Given the description of an element on the screen output the (x, y) to click on. 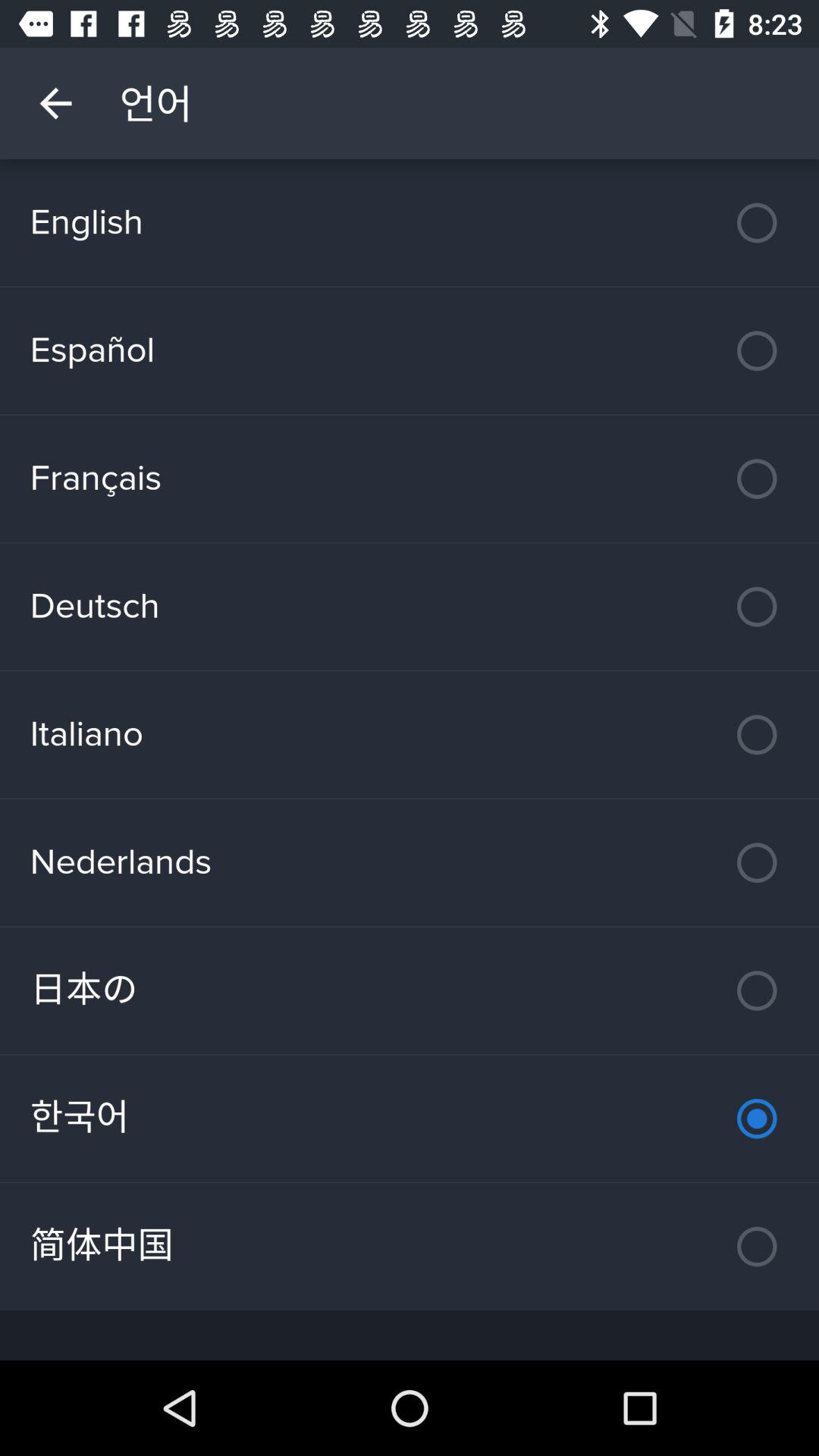
choose item above english icon (55, 103)
